Given the description of an element on the screen output the (x, y) to click on. 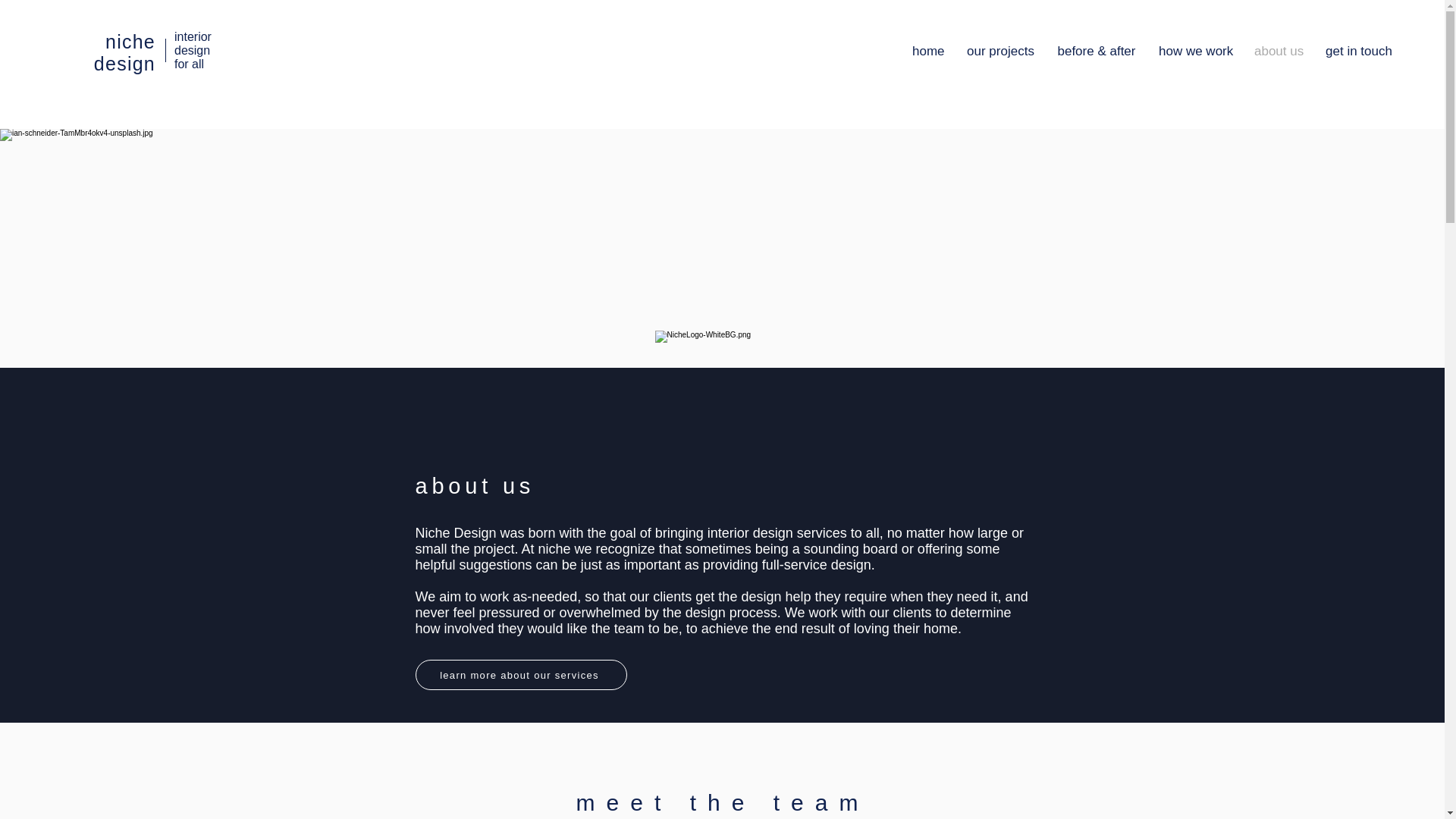
how we work (1195, 51)
our projects (1000, 51)
learn more about our services (520, 675)
niche design (124, 52)
interior design (192, 43)
home (928, 51)
about us (1278, 51)
for all (188, 63)
get in touch (1358, 51)
